Given the description of an element on the screen output the (x, y) to click on. 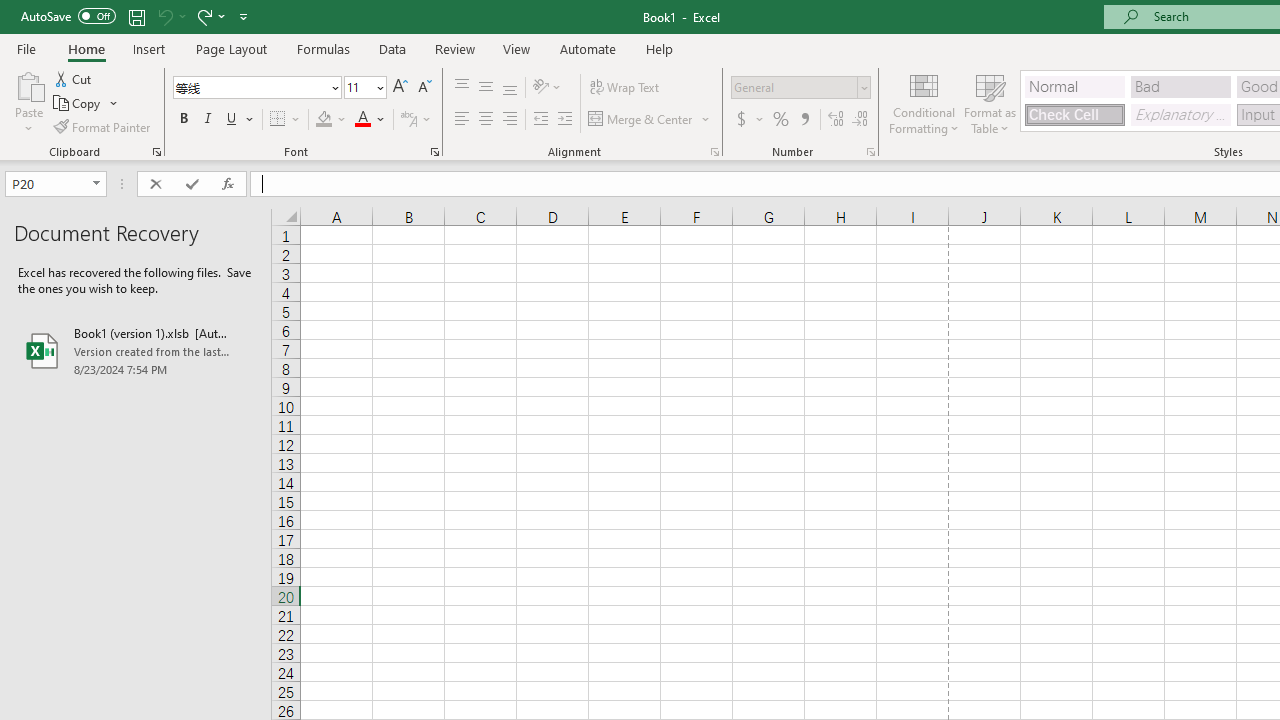
Explanatory Text (1180, 114)
Number Format (794, 87)
File Tab (26, 48)
Font Size (358, 87)
Merge & Center (641, 119)
Save (136, 15)
Fill Color RGB(255, 255, 0) (324, 119)
Wrap Text (624, 87)
Number Format (800, 87)
Percent Style (781, 119)
Increase Indent (565, 119)
Paste (28, 102)
Middle Align (485, 87)
